Given the description of an element on the screen output the (x, y) to click on. 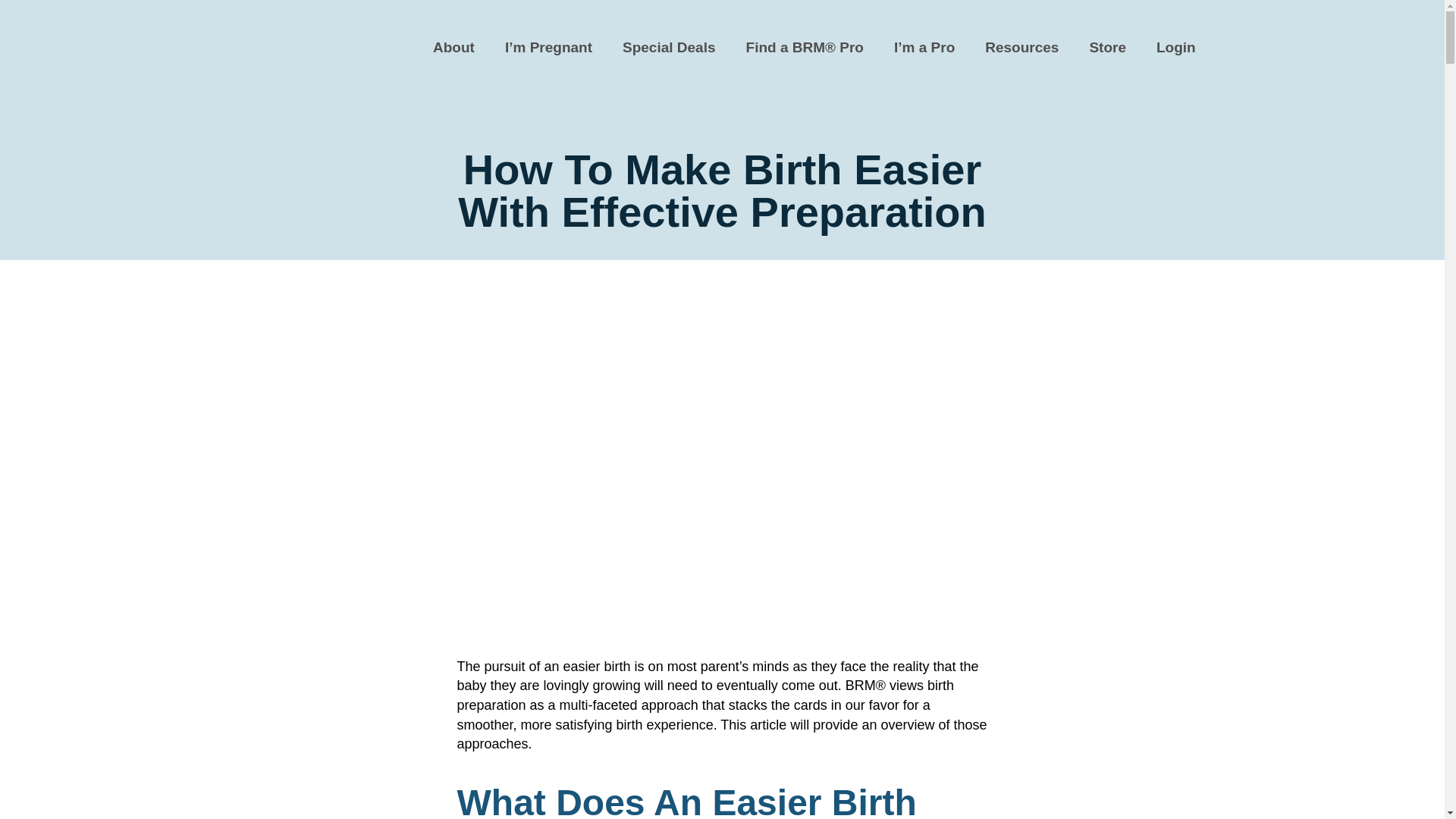
About (453, 47)
Store (1107, 47)
Special Deals (668, 47)
Login (1176, 47)
Resources (1021, 47)
